Given the description of an element on the screen output the (x, y) to click on. 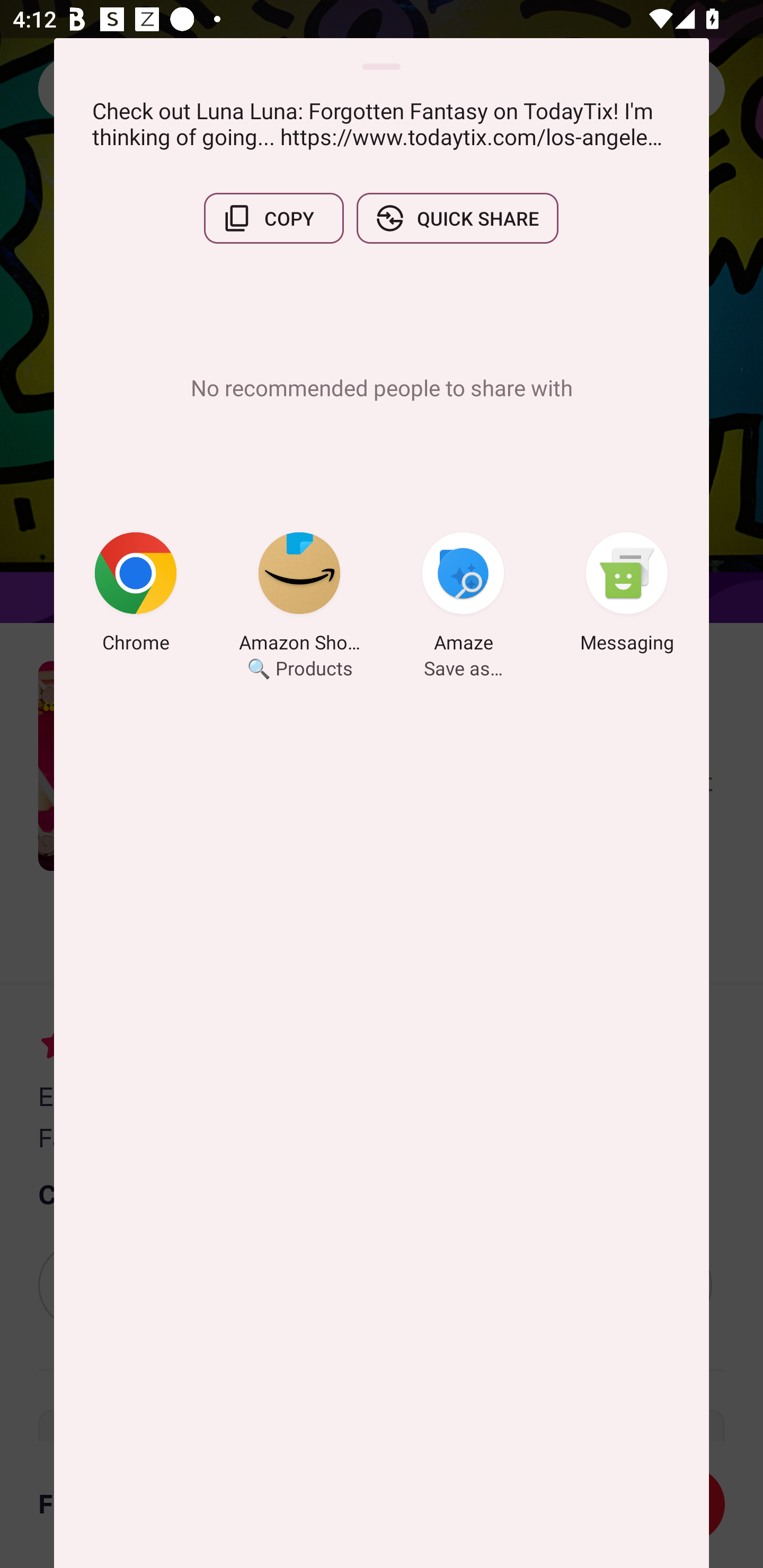
COPY (273, 218)
QUICK SHARE (457, 218)
Chrome (135, 594)
Amazon Shopping 🔍 Products (299, 594)
Amaze Save as… (463, 594)
Messaging (626, 594)
